Given the description of an element on the screen output the (x, y) to click on. 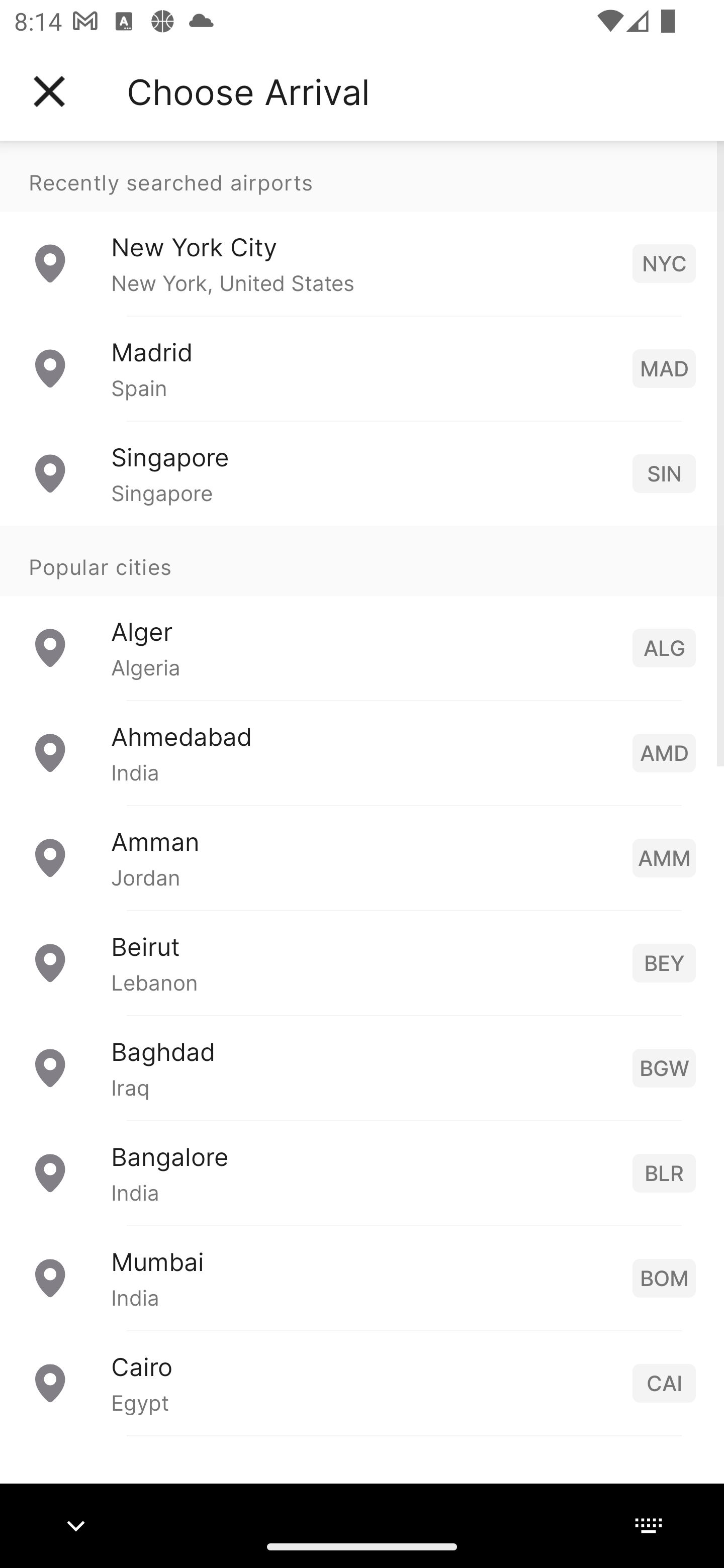
Choose Arrival (247, 91)
Recently searched airports (362, 176)
Madrid Spain MAD (362, 367)
Singapore Singapore SIN (362, 472)
Popular cities Alger Algeria ALG (362, 612)
Popular cities (362, 560)
Ahmedabad India AMD (362, 751)
Amman Jordan AMM (362, 856)
Beirut Lebanon BEY (362, 961)
Baghdad Iraq BGW (362, 1066)
Bangalore India BLR (362, 1171)
Mumbai India BOM (362, 1276)
Cairo Egypt CAI (362, 1381)
